Given the description of an element on the screen output the (x, y) to click on. 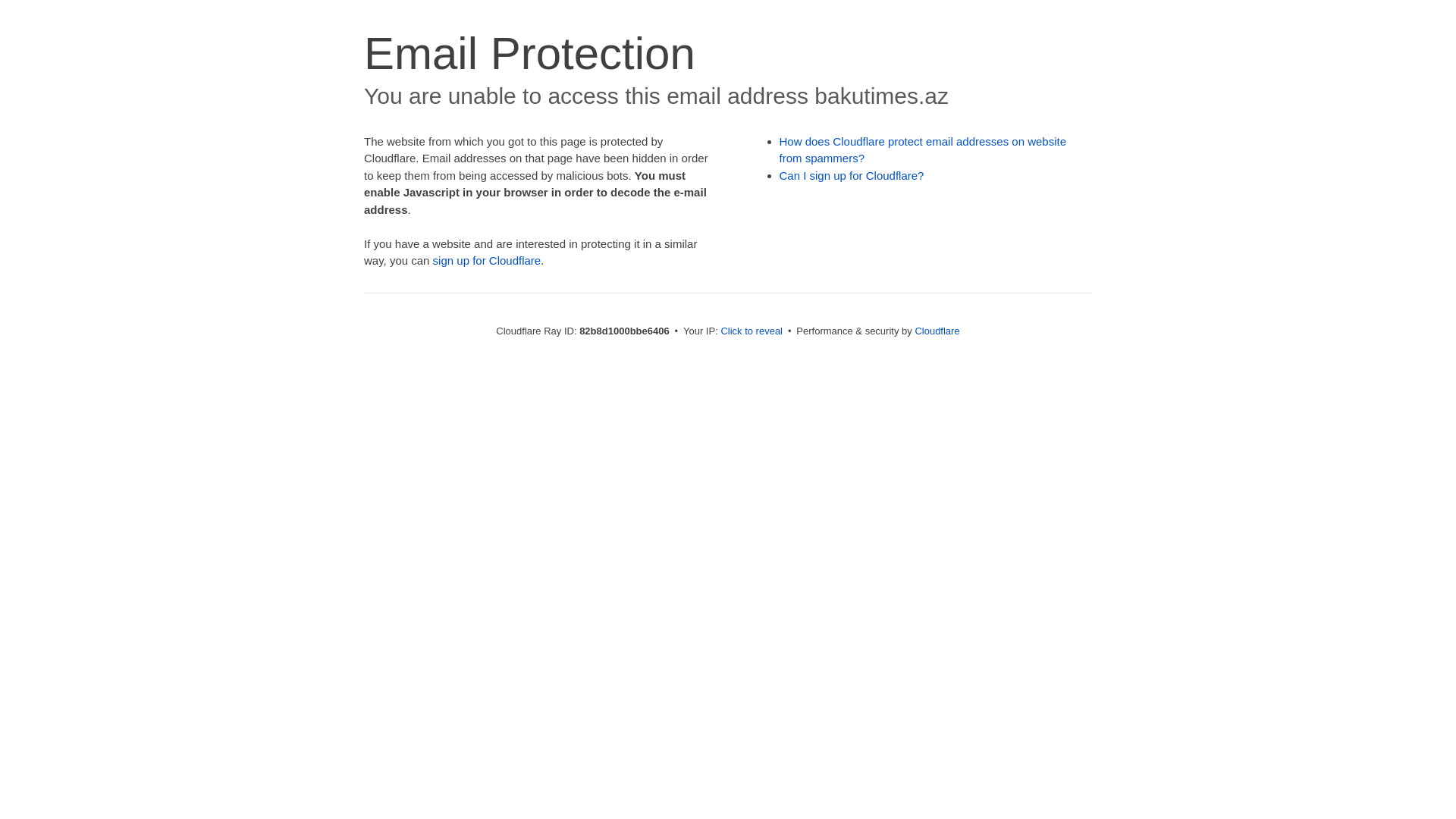
sign up for Cloudflare Element type: text (487, 260)
Can I sign up for Cloudflare? Element type: text (851, 175)
Cloudflare Element type: text (936, 330)
Click to reveal Element type: text (751, 330)
